Given the description of an element on the screen output the (x, y) to click on. 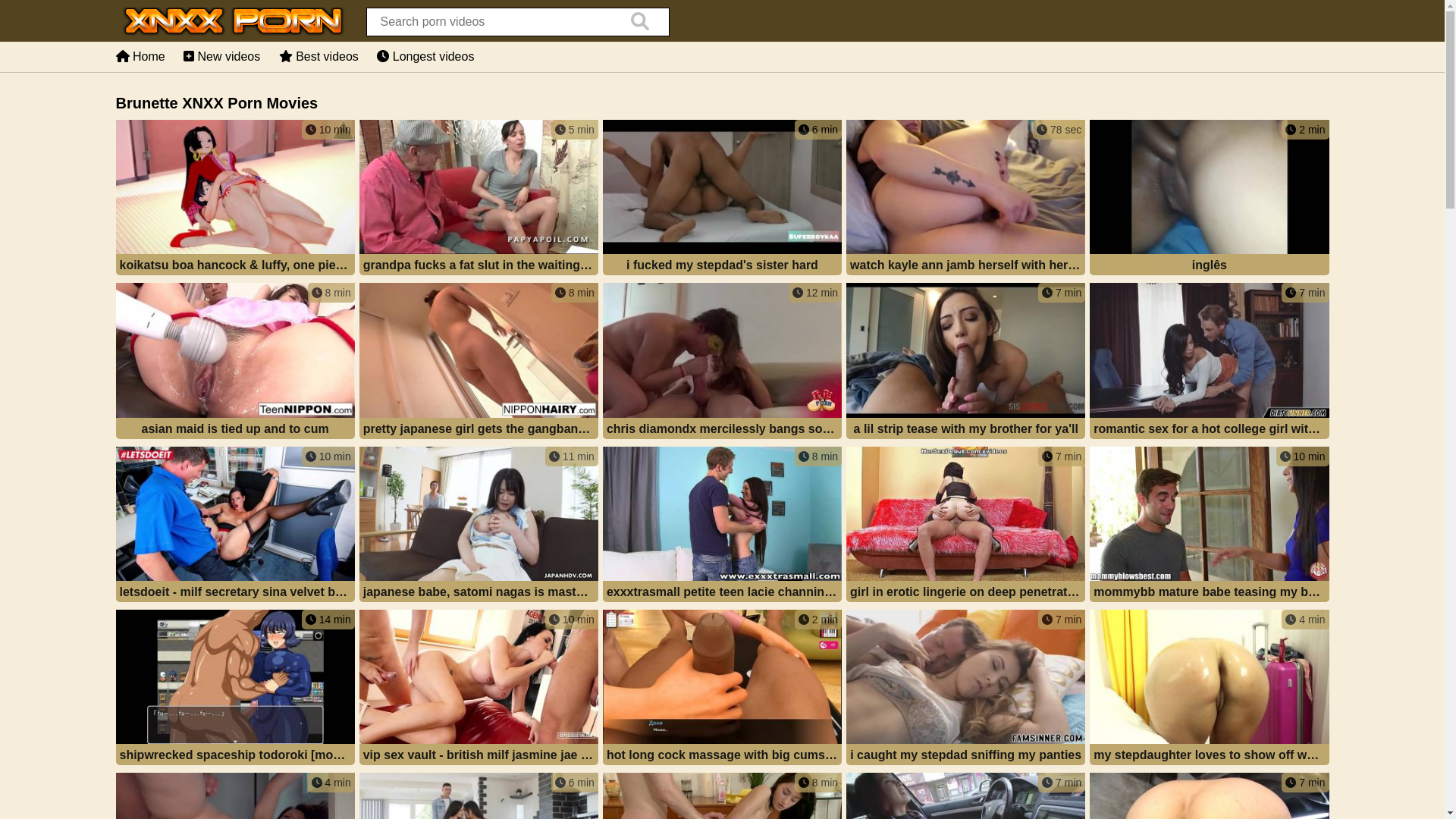
7 min
a lil strip tease with my brother for ya'll Element type: text (965, 361)
12 min
chris diamondx mercilessly bangs sonia, a twitter fan Element type: text (721, 361)
8 min
pretty japanese girl gets the gangbang of her life Element type: text (478, 361)
Best videos Element type: text (318, 56)
7 min
romantic sex for a hot college girl with amazing body Element type: text (1208, 361)
78 sec
watch kayle ann jamb herself with her vibrator! Element type: text (965, 198)
Home Element type: text (139, 56)
6 min
i fucked my stepdad's sister hard Element type: text (721, 198)
7 min
girl in erotic lingerie on deep penetration sex video Element type: text (965, 525)
10 min
mommybb mature babe teasing my boyfriend's cock Element type: text (1208, 525)
8 min
asian maid is tied up and to cum Element type: text (234, 361)
New videos Element type: text (221, 56)
Longest videos Element type: text (424, 56)
7 min
i caught my stepdad sniffing my panties Element type: text (965, 688)
